Given the description of an element on the screen output the (x, y) to click on. 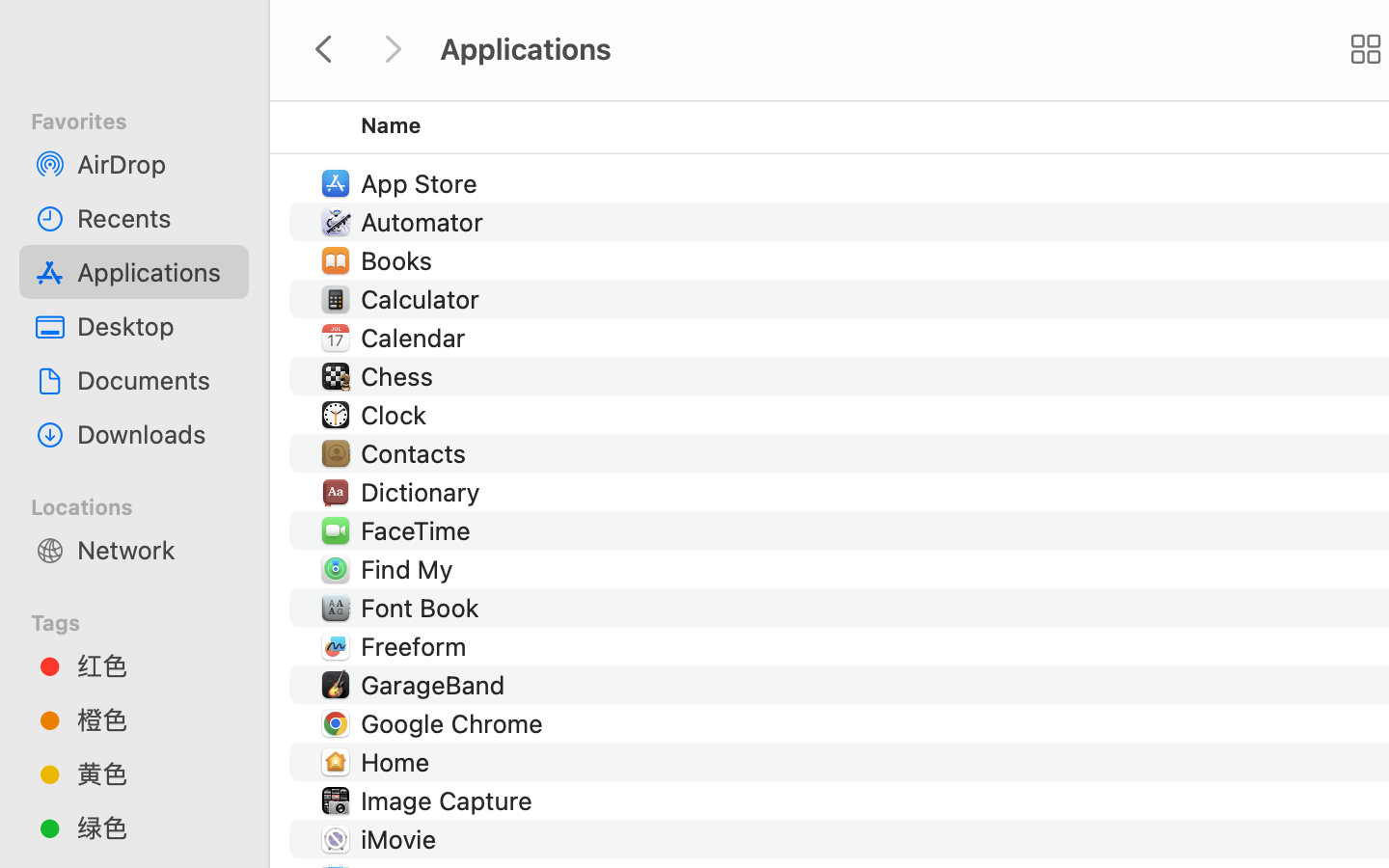
Calculator Element type: AXTextField (423, 298)
Contacts Element type: AXTextField (417, 452)
FaceTime Element type: AXTextField (420, 530)
Automator Element type: AXTextField (425, 221)
Image Capture Element type: AXTextField (450, 800)
